Given the description of an element on the screen output the (x, y) to click on. 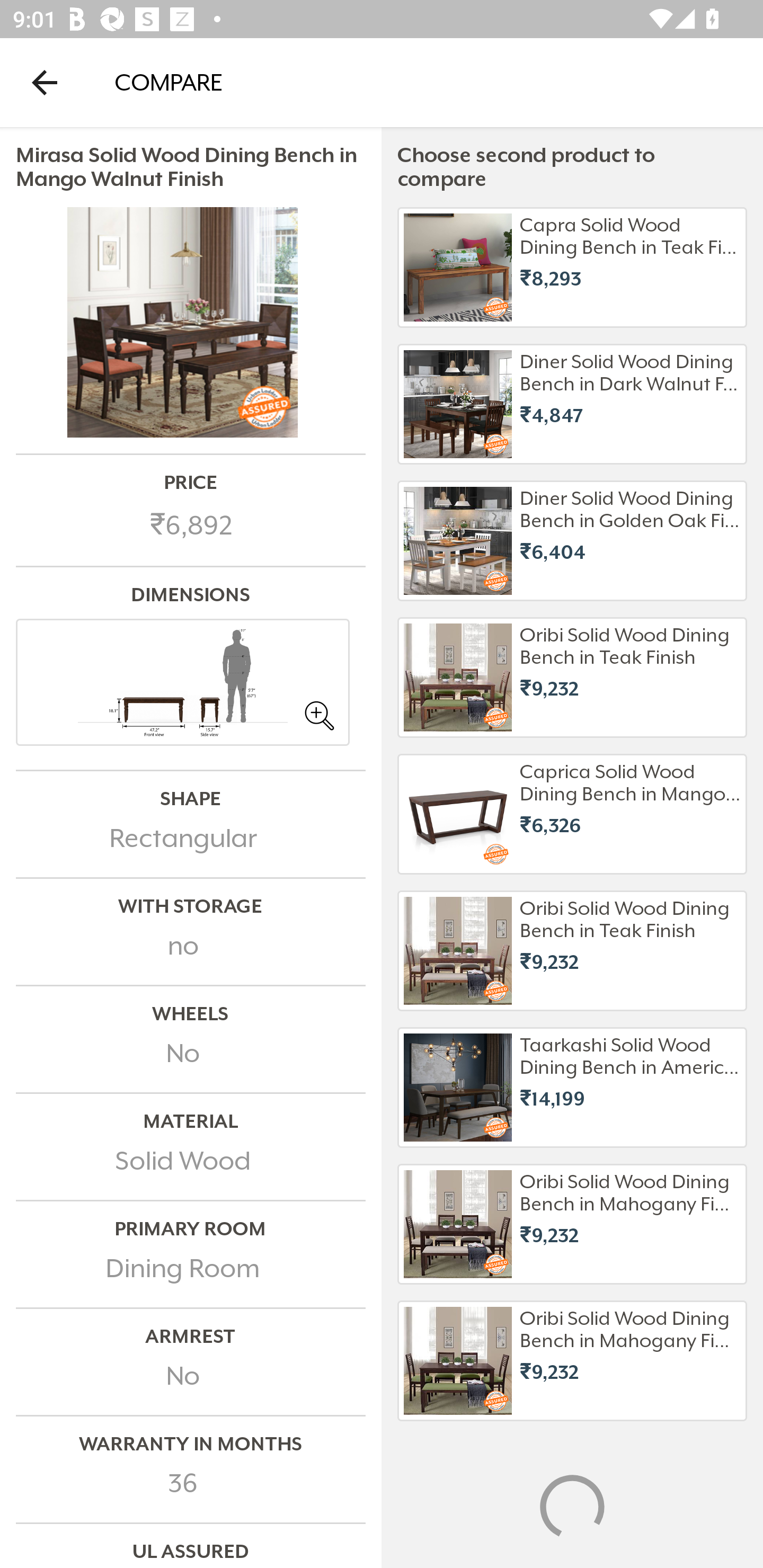
Navigate up (44, 82)
